Given the description of an element on the screen output the (x, y) to click on. 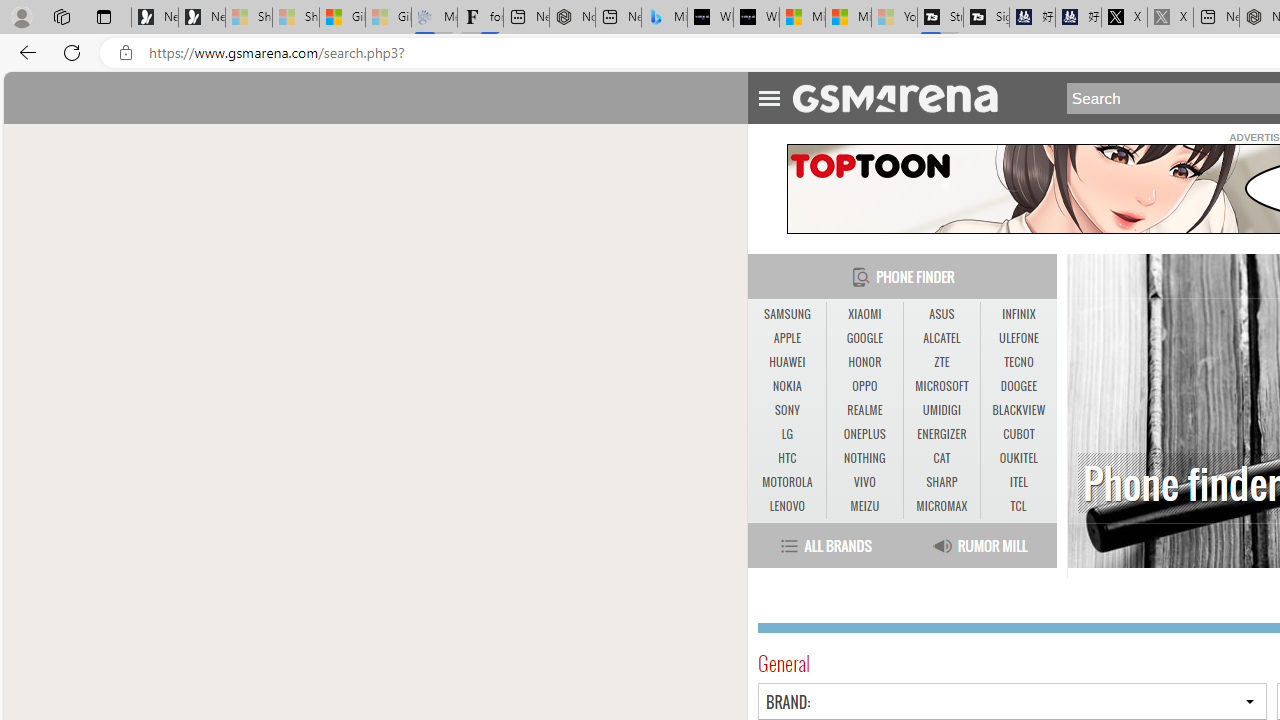
SONY (786, 411)
APPLE (786, 339)
HTC (786, 458)
HONOR (864, 362)
UMIDIGI (941, 411)
HUAWEI (786, 362)
MOTOROLA (786, 483)
MICROSOFT (941, 385)
DOOGEE (1018, 386)
